Given the description of an element on the screen output the (x, y) to click on. 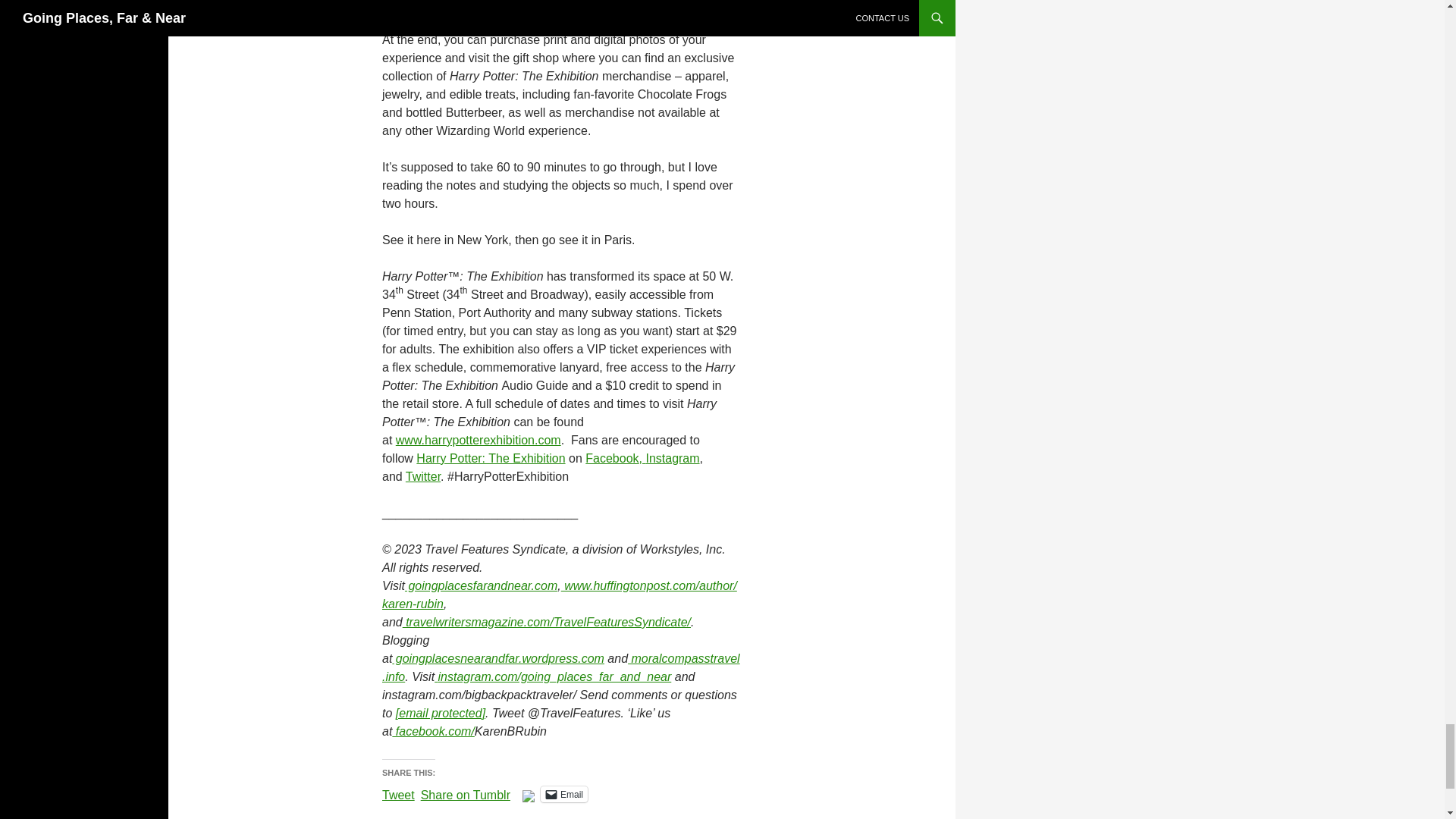
www.harrypotterexhibition.com (478, 440)
Facebook (612, 458)
Instagram (671, 458)
Click to email a link to a friend (564, 794)
 moralcompasstravel.info (560, 667)
Twitter (423, 476)
Harry Potter: The Exhibition (490, 458)
Share on Tumblr (465, 793)
 goingplacesnearandfar.wordpress.com (497, 658)
 goingplacesfarandnear.com (480, 585)
